Given the description of an element on the screen output the (x, y) to click on. 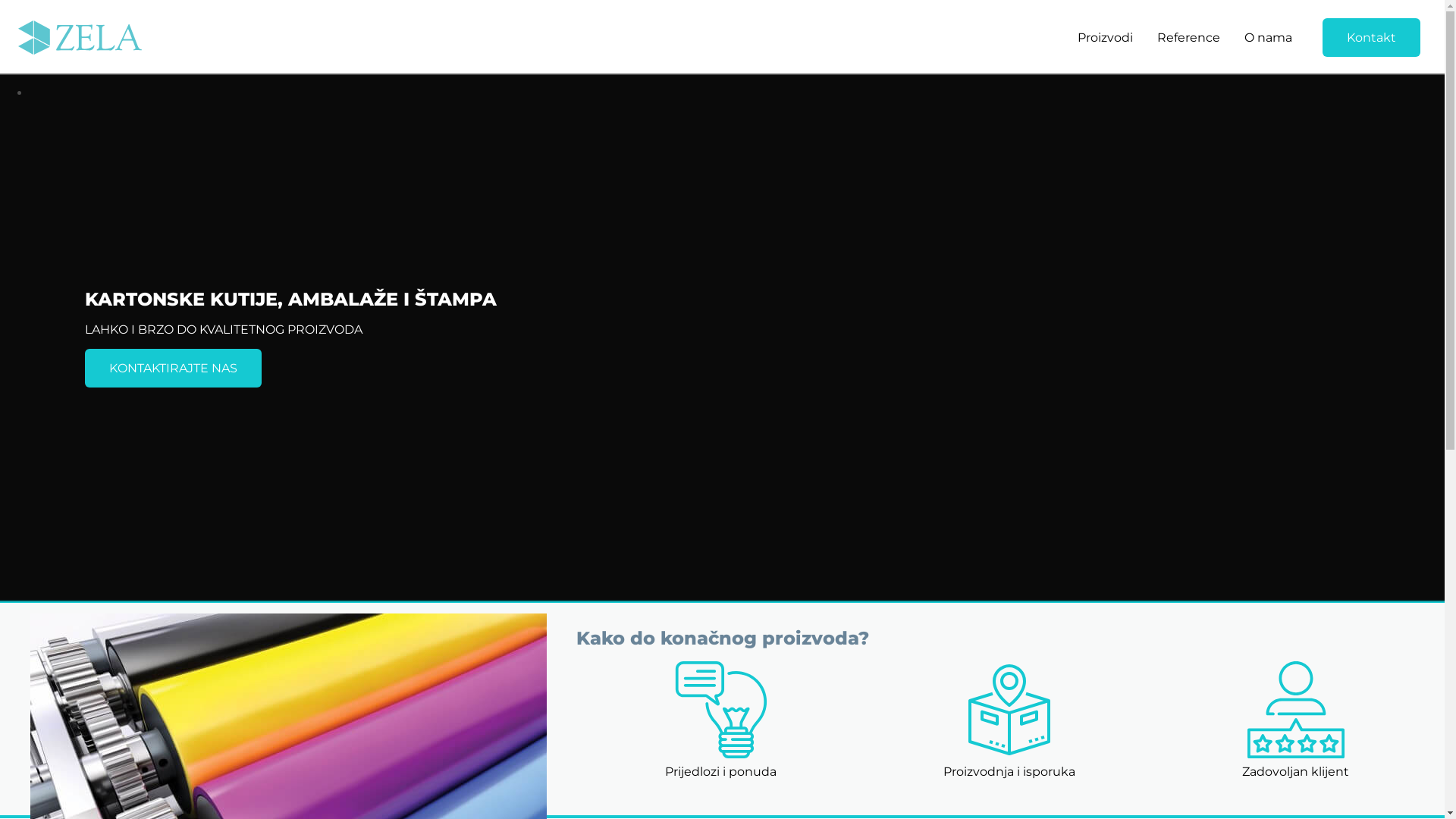
O nama Element type: text (1268, 37)
Proizvodi Element type: text (1104, 37)
Reference Element type: text (1188, 37)
KONTAKTIRAJTE NAS Element type: text (172, 367)
Kontakt Element type: text (1371, 37)
